Given the description of an element on the screen output the (x, y) to click on. 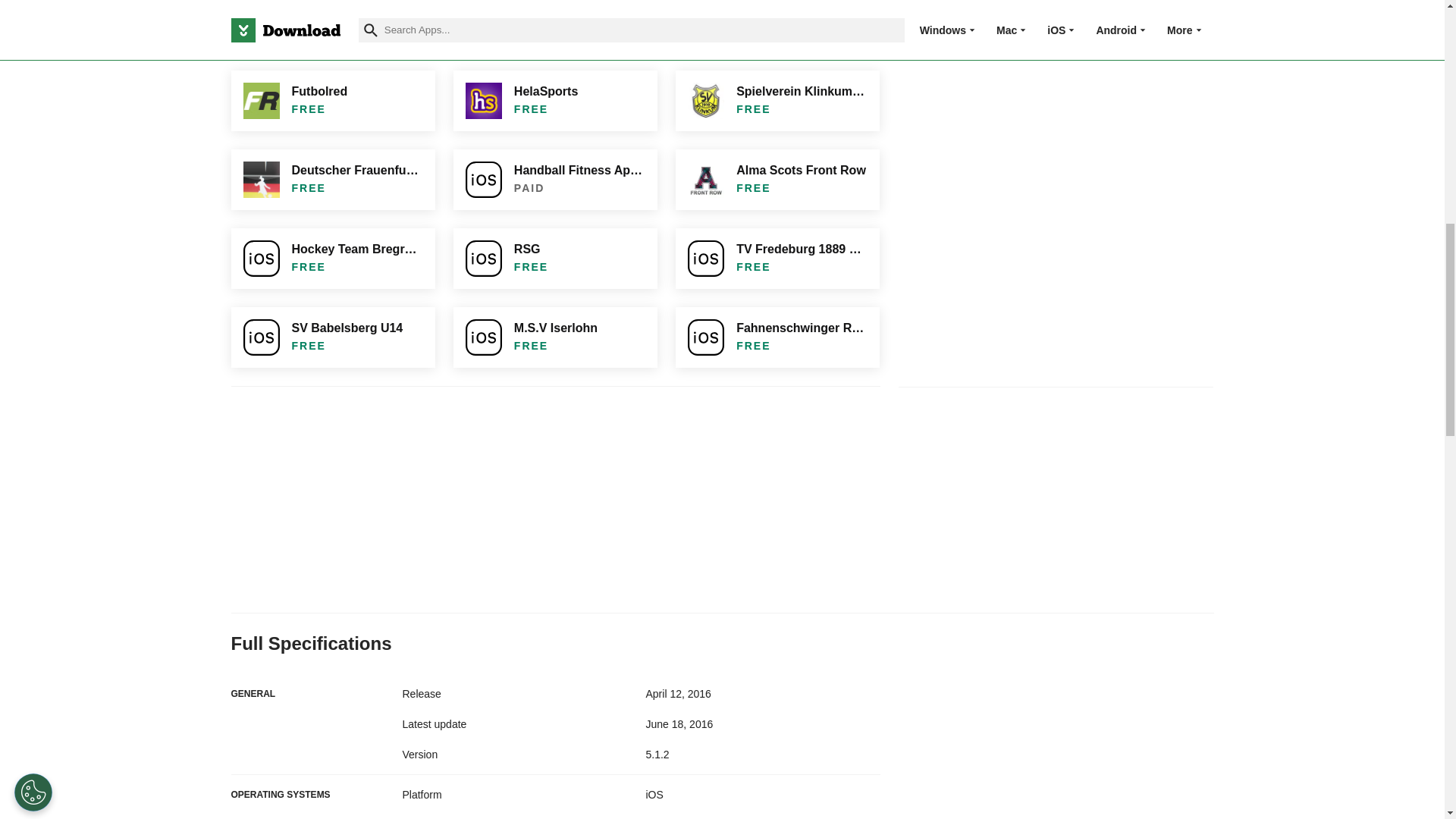
SV Babelsberg U14 (331, 337)
M.S.V Iserlohn (555, 337)
Hockey Team Bregrabe Fanpage (331, 258)
Alma Scots Front Row (777, 179)
Futbolred (331, 100)
RSG (555, 258)
Spielverein Klinkum 1919 e.V. (777, 100)
Fahnenschwinger Rastatt e.V. (777, 337)
TV Fredeburg 1889 e.V. (777, 258)
Deutscher Frauenfussball (331, 179)
